Given the description of an element on the screen output the (x, y) to click on. 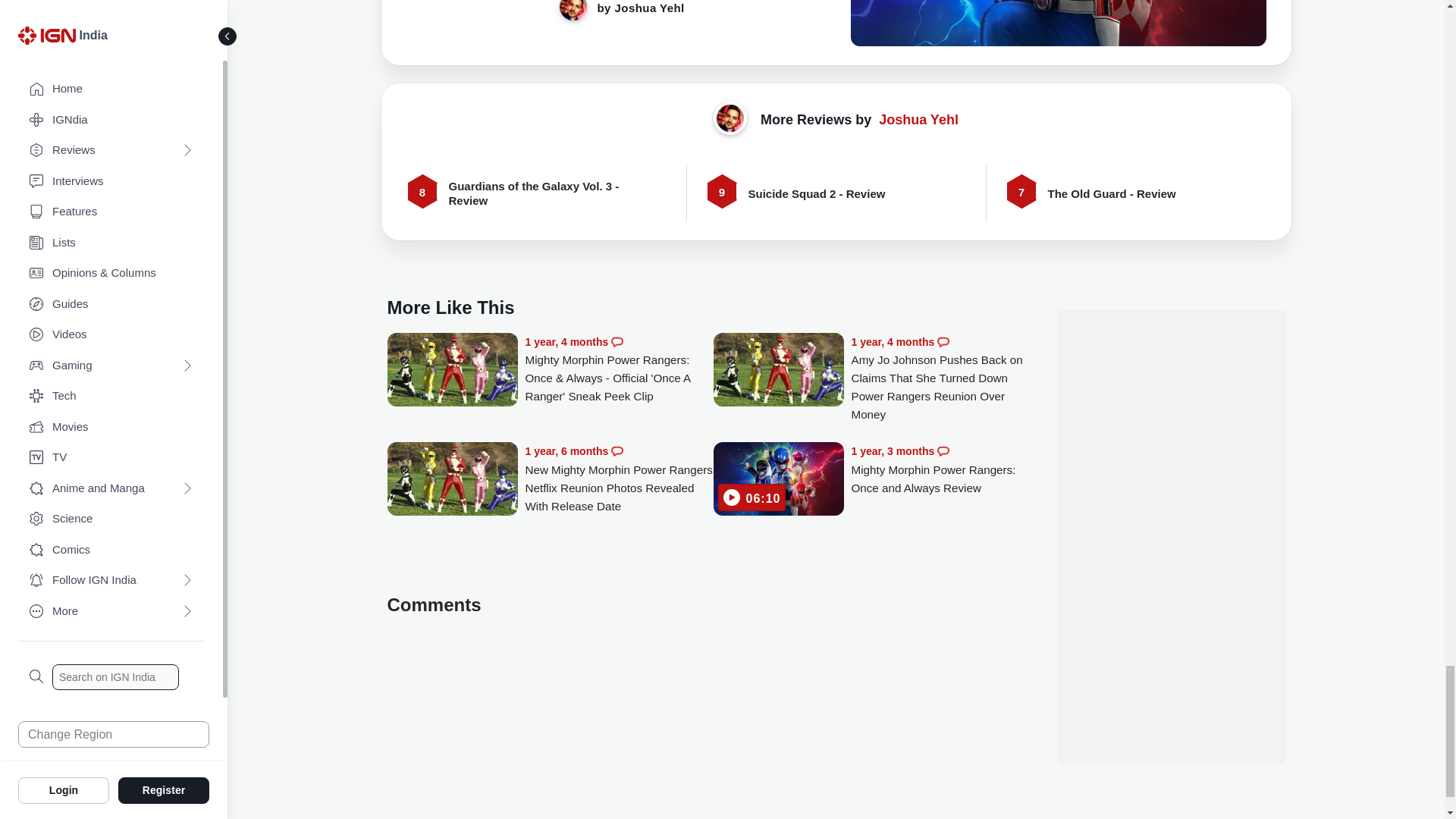
Mighty Morphin Power Rangers: Once and Always Review (778, 480)
Mighty Morphin Power Rangers: Once and Always Review (944, 469)
